Given the description of an element on the screen output the (x, y) to click on. 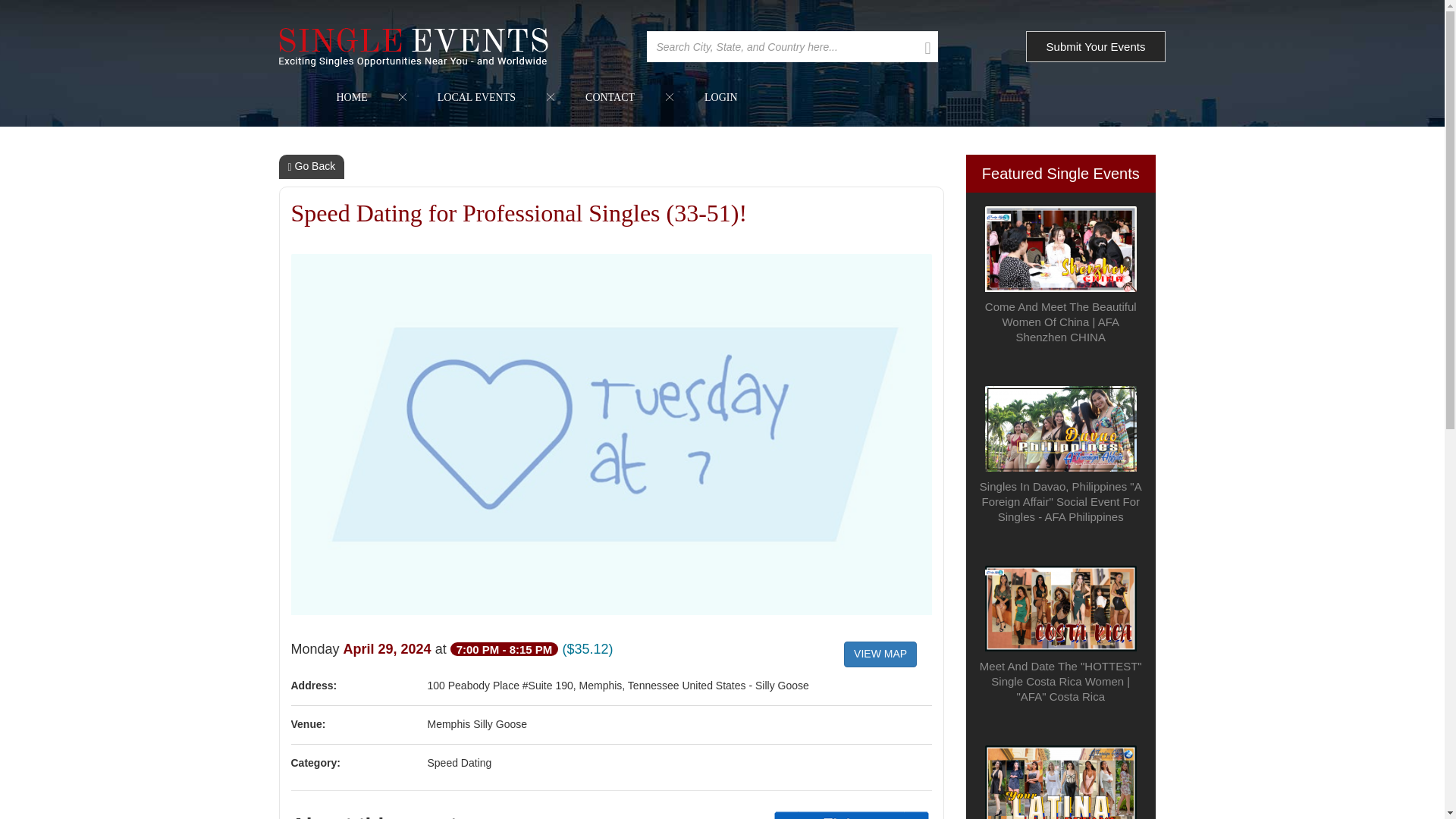
LOCAL EVENTS (476, 97)
VIEW MAP (880, 654)
Go Back (312, 166)
Submit Your Events (1096, 46)
CONTACT (609, 97)
HOME (351, 97)
April 29, 2024 (389, 648)
LOGIN (721, 97)
